Given the description of an element on the screen output the (x, y) to click on. 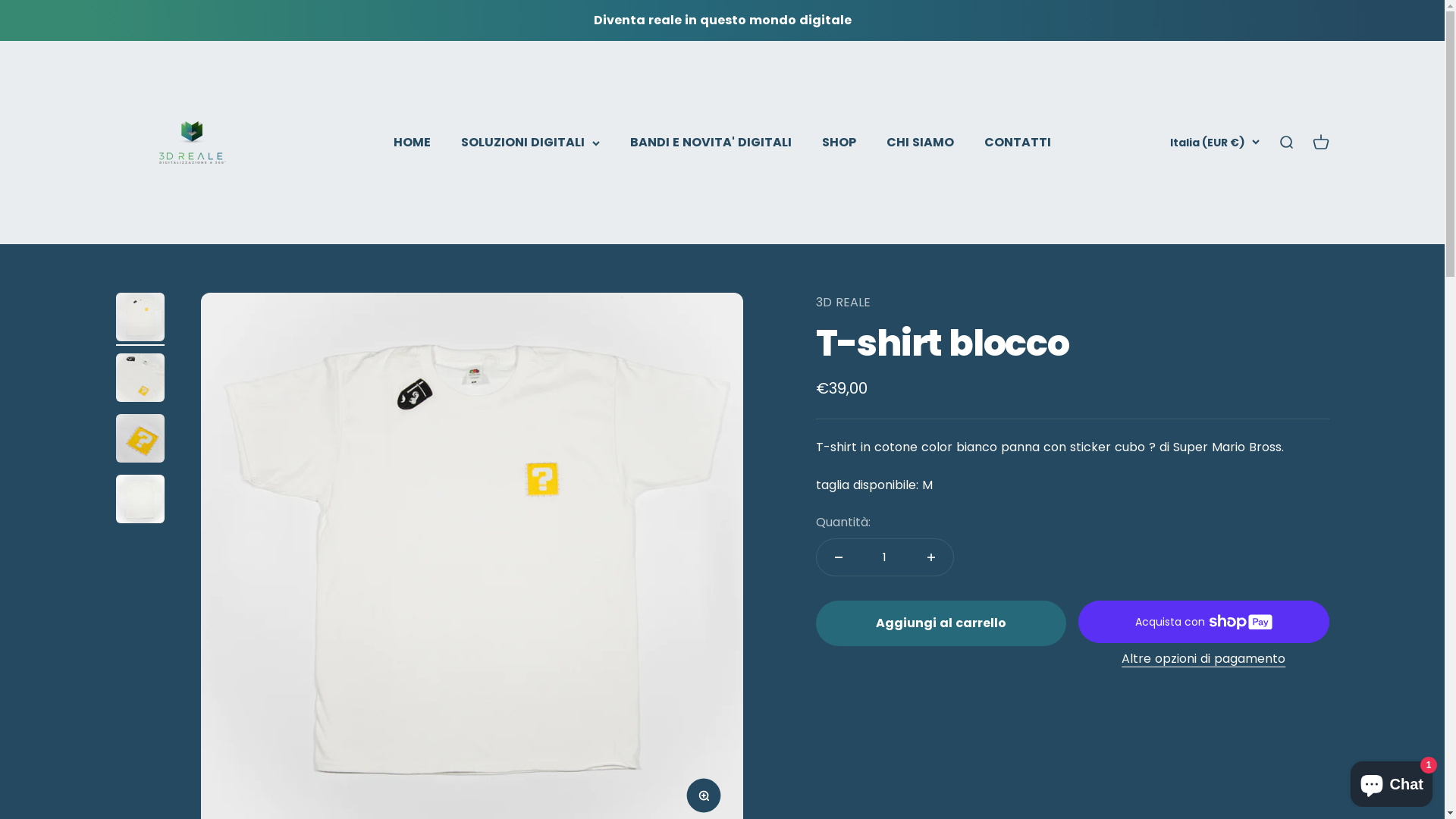
CHI SIAMO Element type: text (919, 141)
Mostra il menu di ricerca Element type: text (1285, 142)
Chat negozio online di Shopify Element type: hover (1391, 780)
BANDI E NOVITA' DIGITALI Element type: text (710, 141)
3D REALE Element type: text (842, 301)
Altre opzioni di pagamento Element type: text (1203, 658)
CONTATTI Element type: text (1017, 141)
Mostra il carrello
0 Element type: text (1319, 142)
Aggiungi al carrello Element type: text (940, 623)
3D REALE Element type: text (190, 142)
SHOP Element type: text (839, 141)
Diventa reale in questo mondo digitale Element type: text (721, 19)
HOME Element type: text (411, 141)
